Given the description of an element on the screen output the (x, y) to click on. 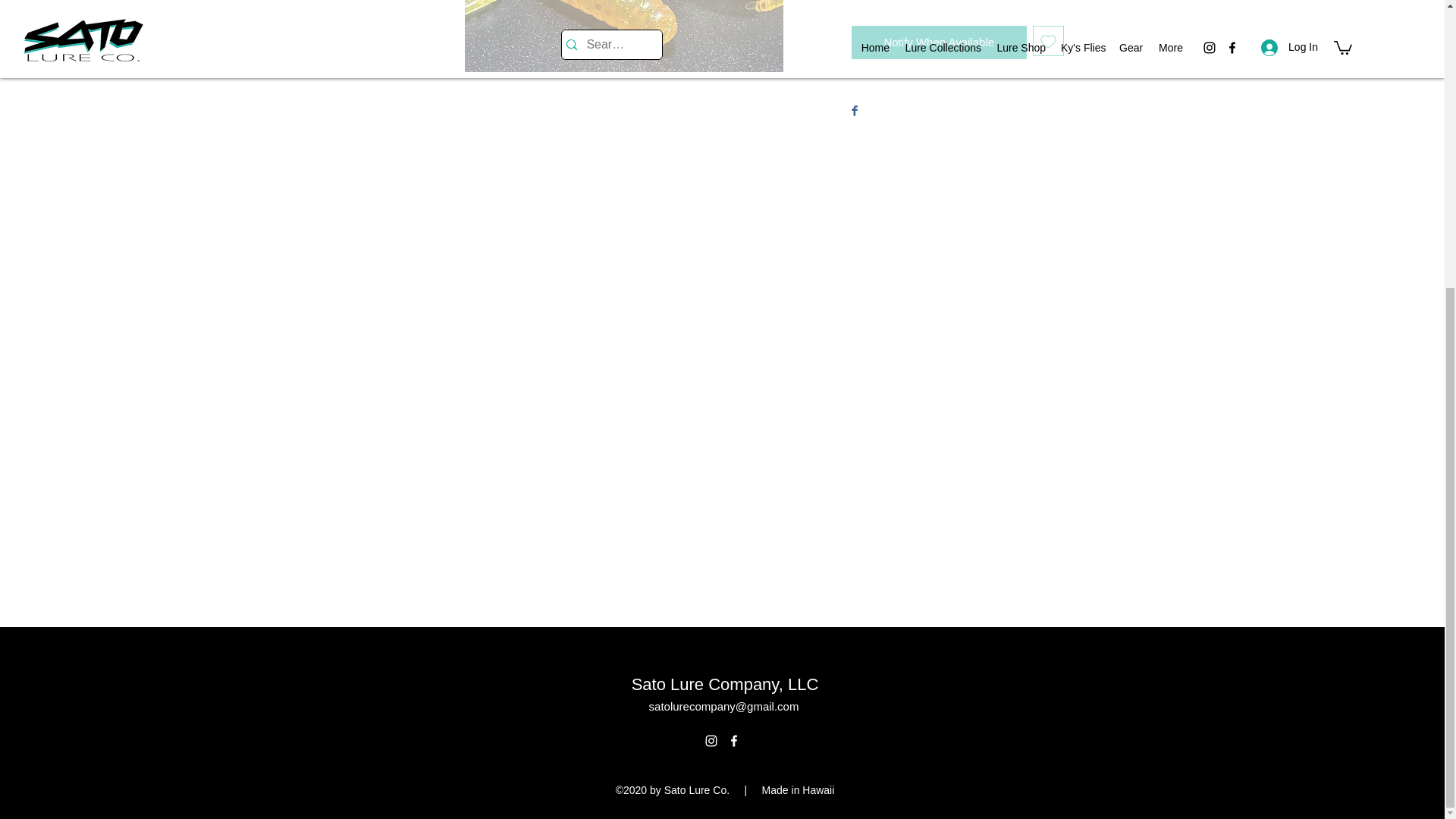
Sato Lure Company, LLC (724, 683)
Notify When Available (938, 41)
